Given the description of an element on the screen output the (x, y) to click on. 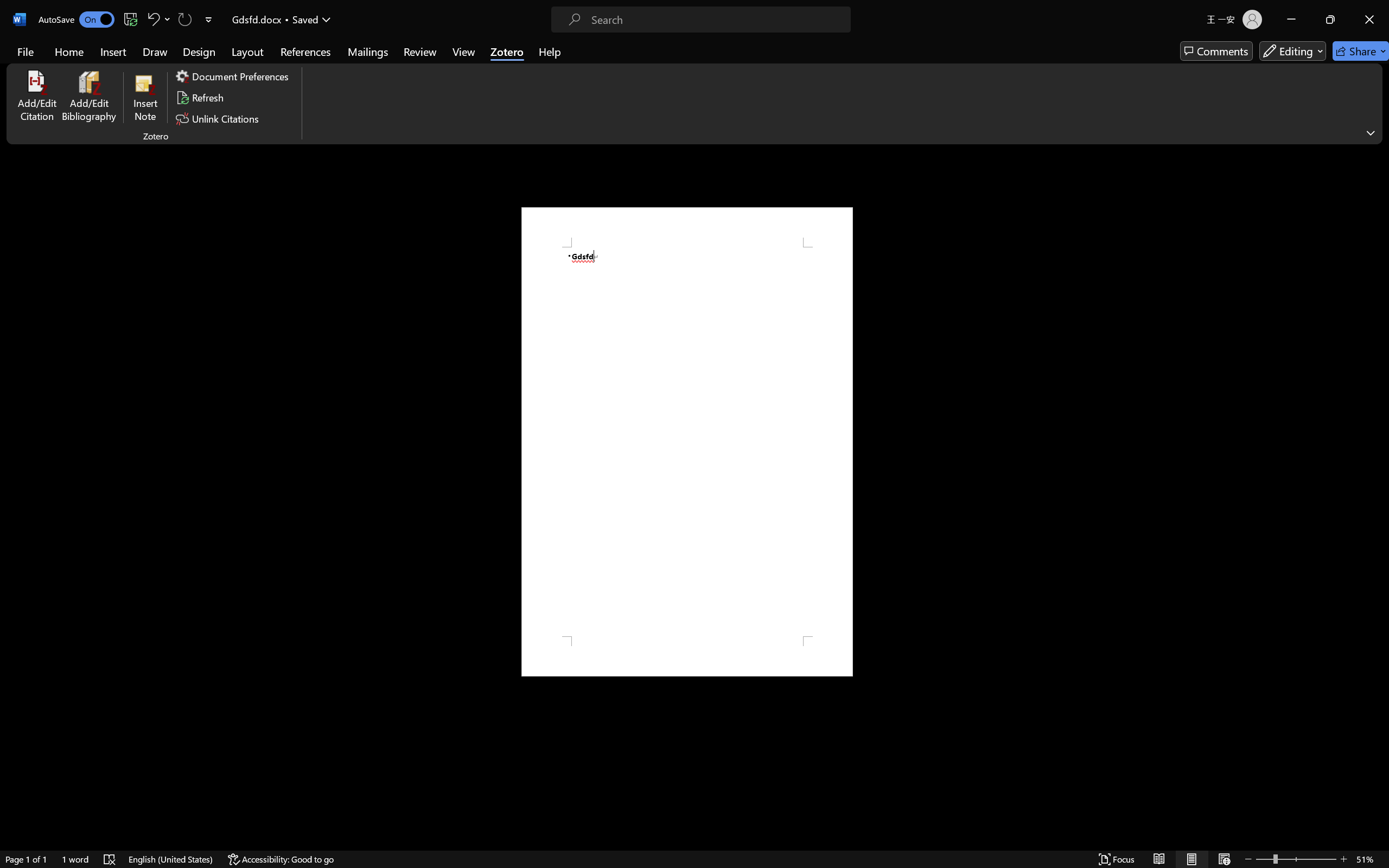
Page 1 content (686, 441)
